Given the description of an element on the screen output the (x, y) to click on. 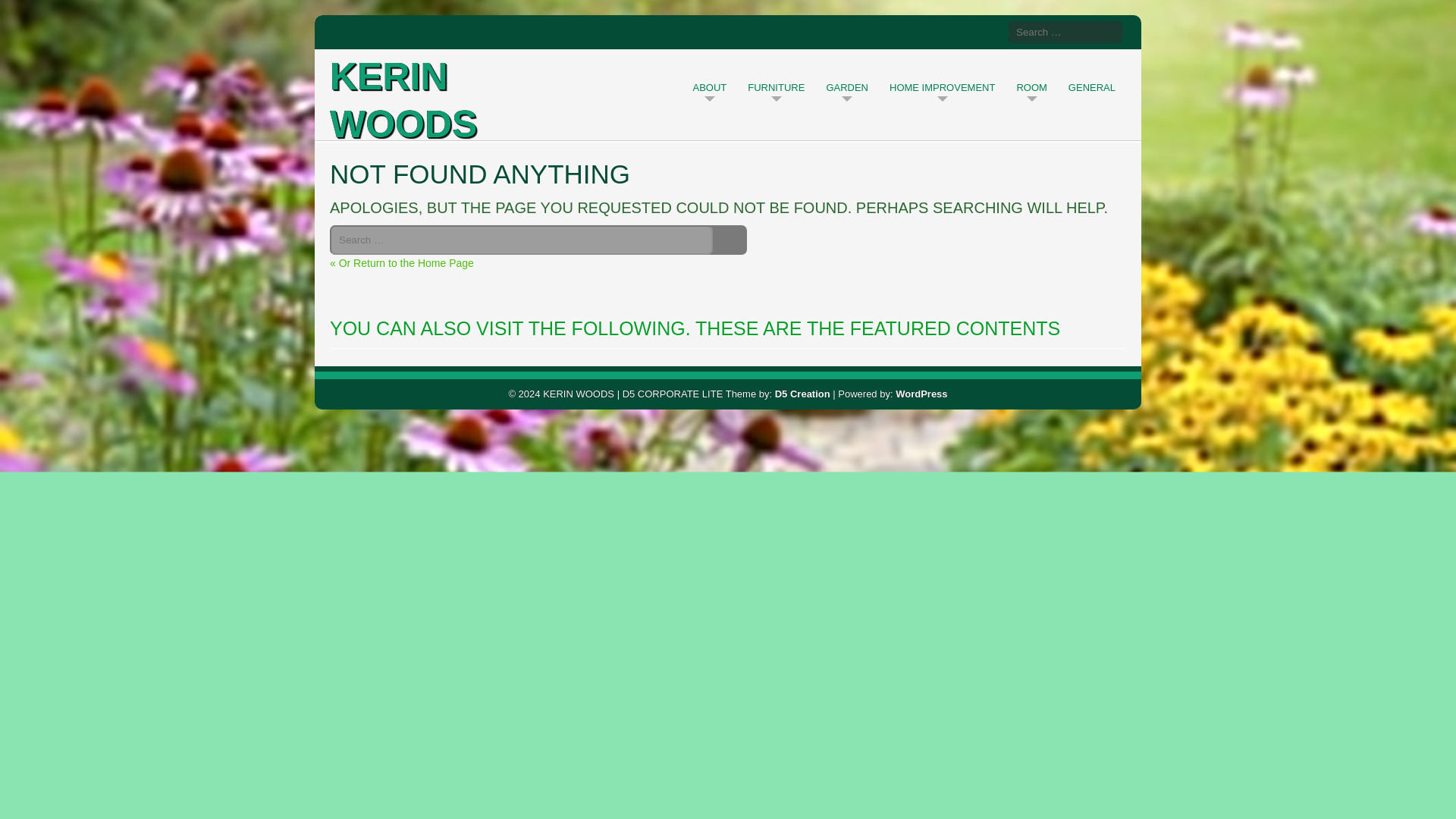
Search (1107, 32)
Search (1107, 32)
Search (1107, 32)
FURNITURE (775, 86)
ABOUT (709, 86)
GARDEN (846, 86)
Browse the Home Page (402, 263)
HOME IMPROVEMENT (941, 86)
Search (731, 239)
Search (731, 239)
